Given the description of an element on the screen output the (x, y) to click on. 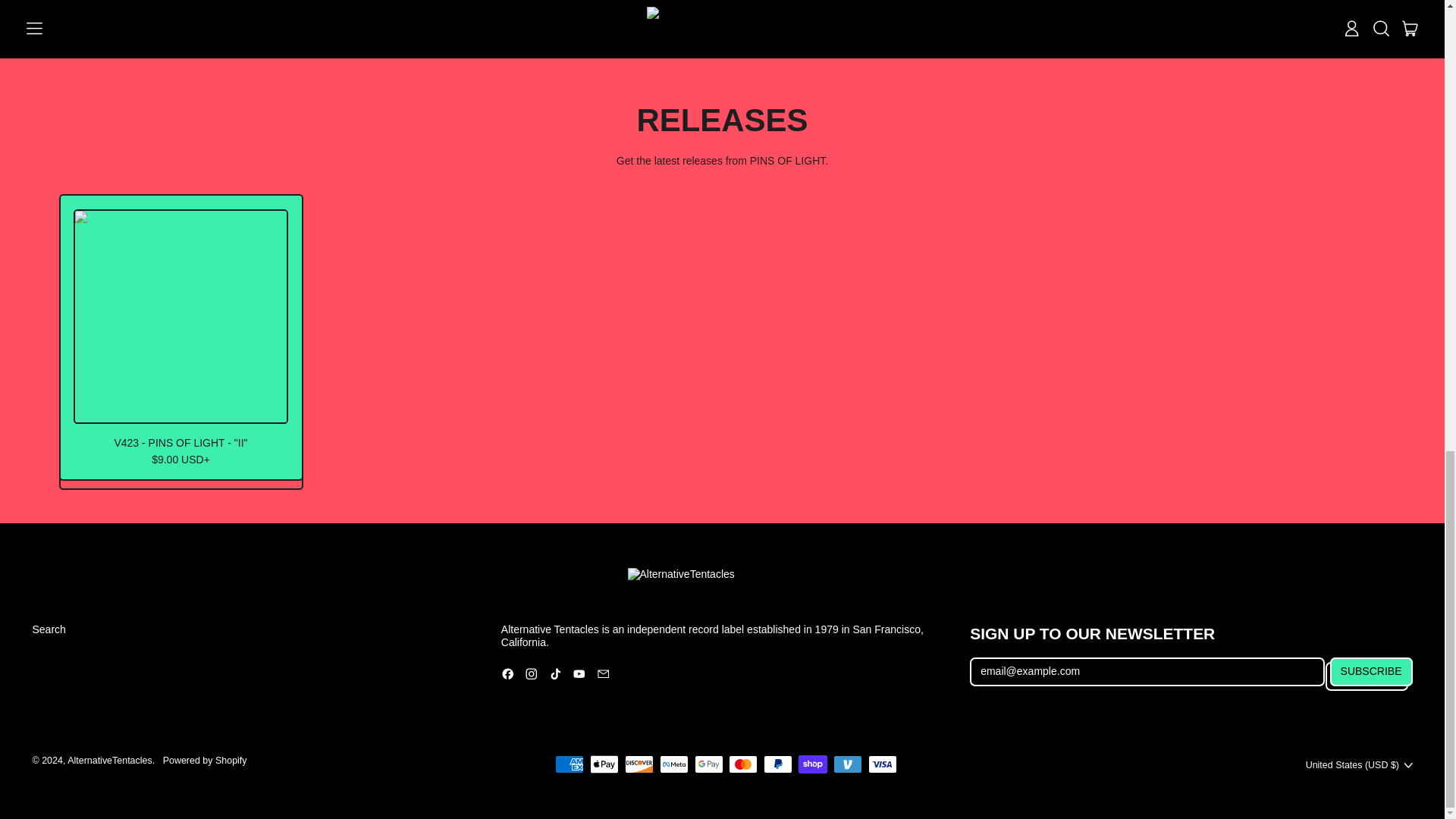
TikTok (555, 676)
YouTube (579, 676)
Instagram (531, 676)
AlternativeTentacles (109, 760)
Search (48, 629)
SUBSCRIBE (1371, 671)
Email (603, 676)
Powered by Shopify (205, 760)
Facebook (507, 676)
